Given the description of an element on the screen output the (x, y) to click on. 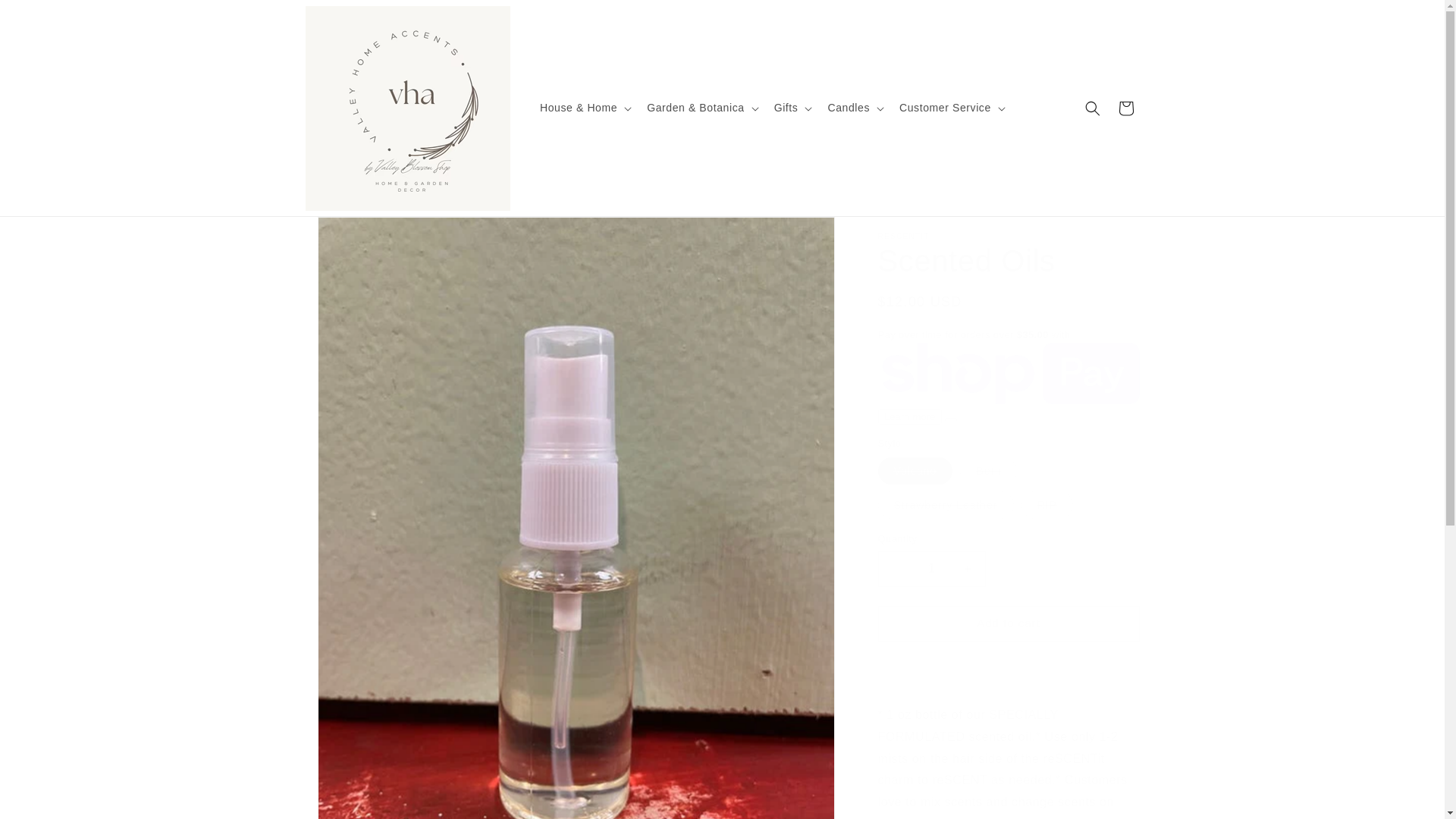
Skip to content (45, 17)
1 (931, 569)
